Given the description of an element on the screen output the (x, y) to click on. 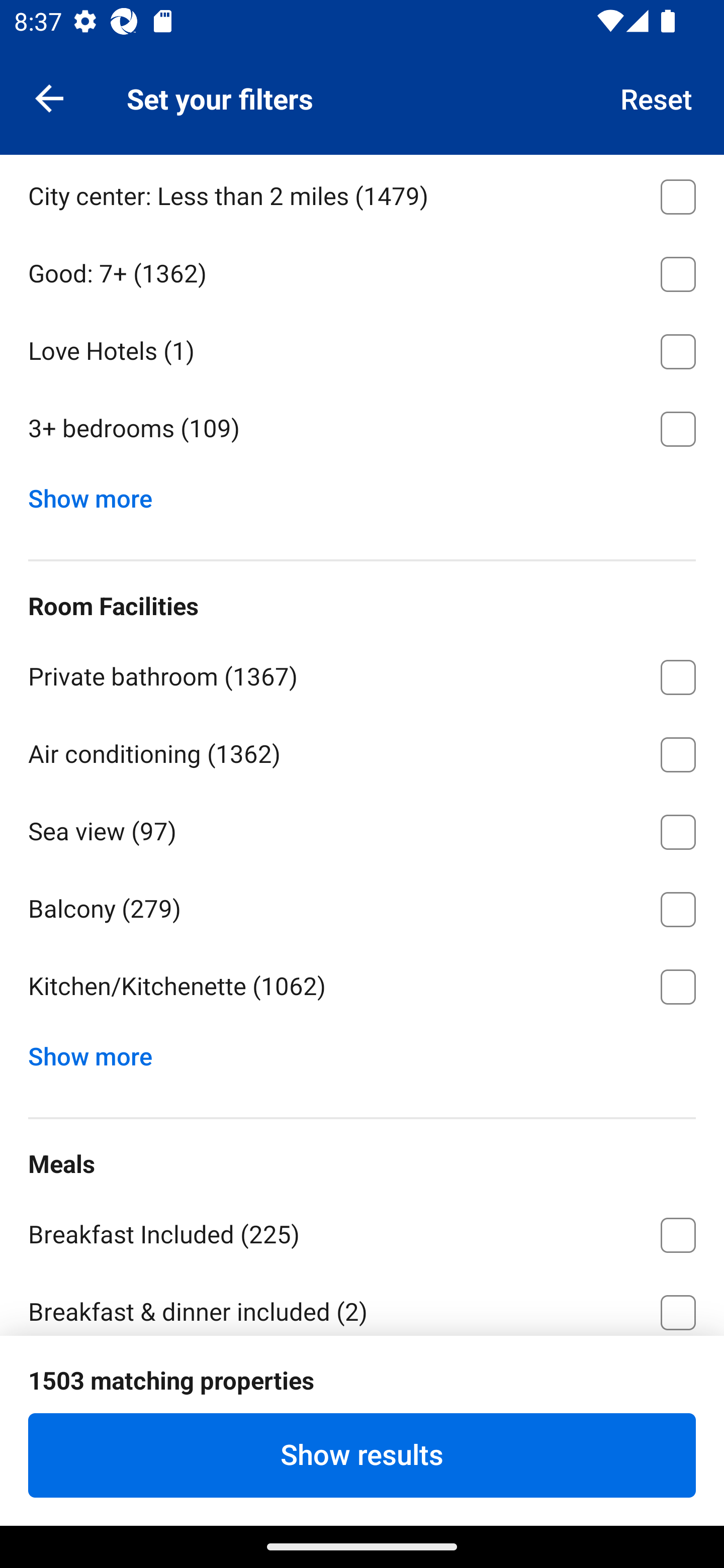
Navigate up (49, 97)
Reset (656, 97)
Vacation Homes ⁦(19) (361, 115)
City center: Less than 2 miles ⁦(1479) (361, 193)
Good: 7+ ⁦(1362) (361, 270)
Love Hotels ⁦(1) (361, 347)
3+ bedrooms ⁦(109) (361, 429)
Show more (97, 494)
Private bathroom ⁦(1367) (361, 673)
Air conditioning ⁦(1362) (361, 750)
Sea view ⁦(97) (361, 828)
Balcony ⁦(279) (361, 906)
Kitchen/Kitchenette ⁦(1062) (361, 986)
Show more (97, 1051)
Breakfast Included ⁦(225) (361, 1231)
Breakfast & dinner included ⁦(2) (361, 1302)
Kitchen facilities ⁦(1062) (361, 1386)
Show results (361, 1454)
